Given the description of an element on the screen output the (x, y) to click on. 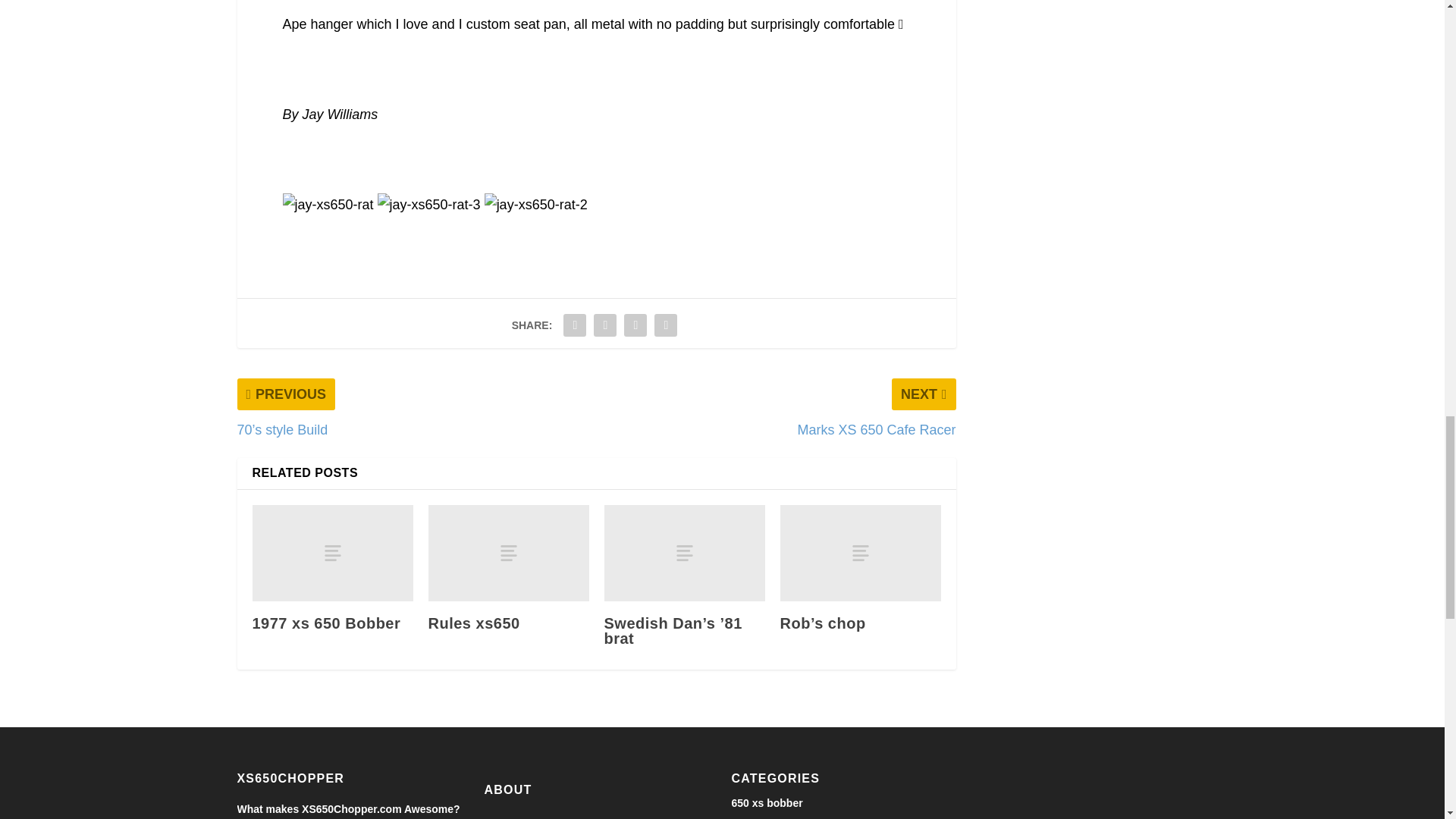
Rules xs650 (508, 553)
Share "Jays xs650 Rat" via Tumblr (604, 325)
Share "Jays xs650 Rat" via Facebook (574, 325)
Share "Jays xs650 Rat" via Pinterest (635, 325)
Share "Jays xs650 Rat" via Email (665, 325)
1977 xs 650 Bobber (331, 553)
